Given the description of an element on the screen output the (x, y) to click on. 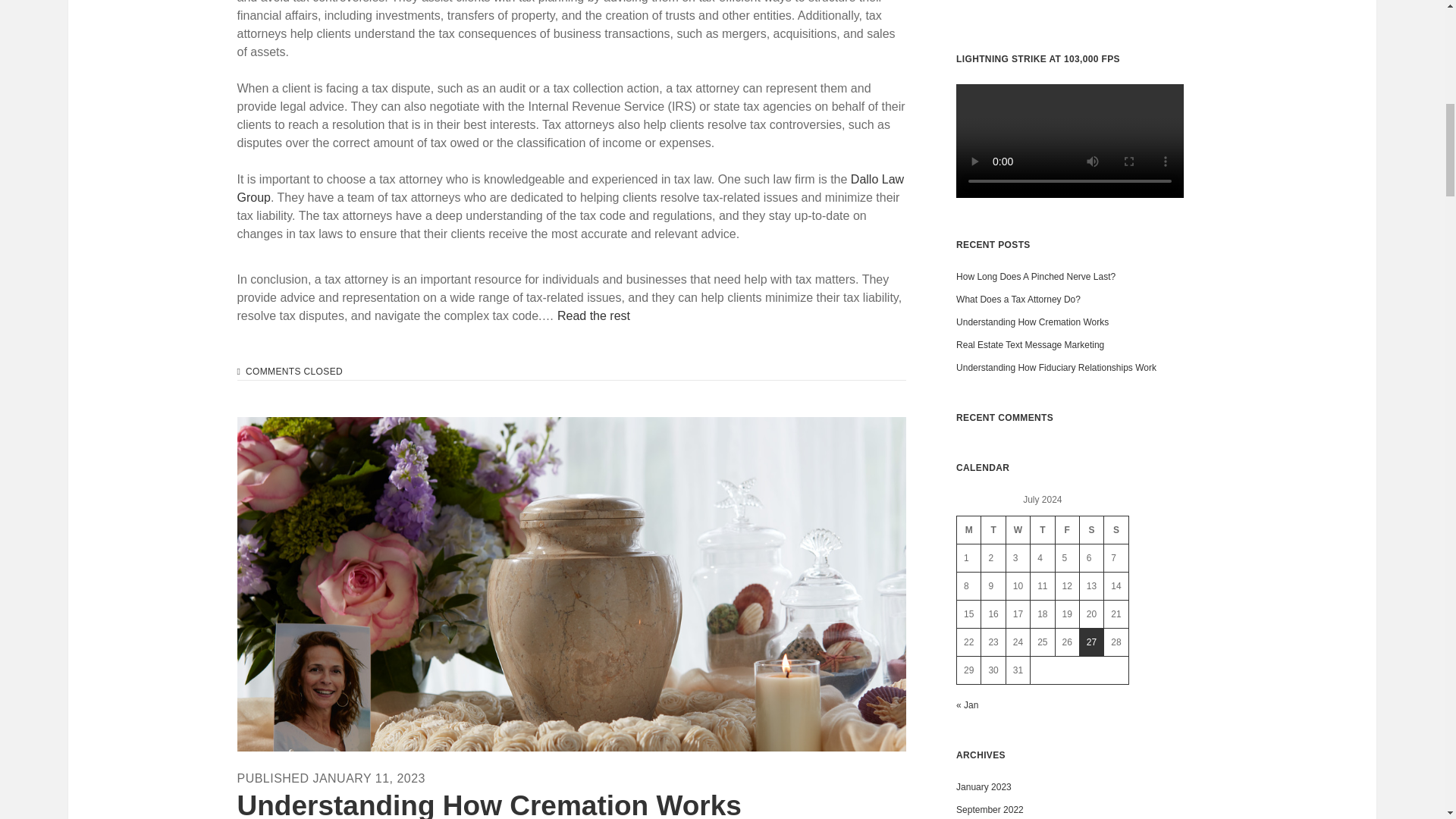
Read the rest (593, 315)
comment icon (237, 370)
Understanding How Cremation Works (488, 804)
Dallo Law Group (569, 187)
